Given the description of an element on the screen output the (x, y) to click on. 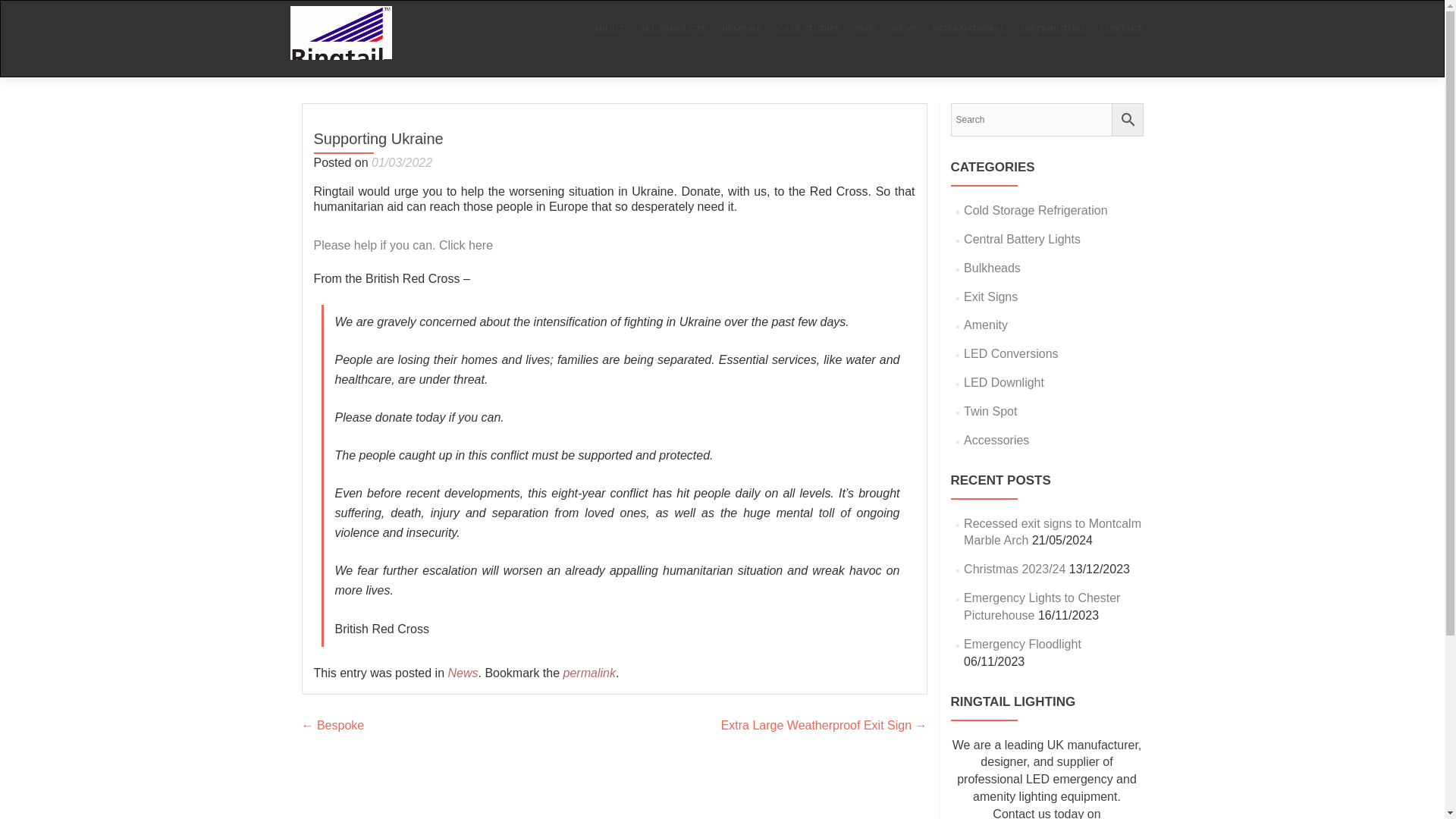
Bulkheads (991, 267)
LED Downlight (1003, 382)
LED Conversions (1010, 353)
CONTACT (1121, 28)
NEWS (904, 28)
Central Battery Lights (1021, 238)
Exit Signs (990, 296)
BESPOKE (741, 28)
permalink (589, 672)
ABOUT (608, 28)
DISTRIBUTORS (1053, 28)
Twin Spot (989, 410)
INTERNATIONAL (969, 28)
ALL PRODUCTS (672, 28)
Amenity (985, 324)
